Given the description of an element on the screen output the (x, y) to click on. 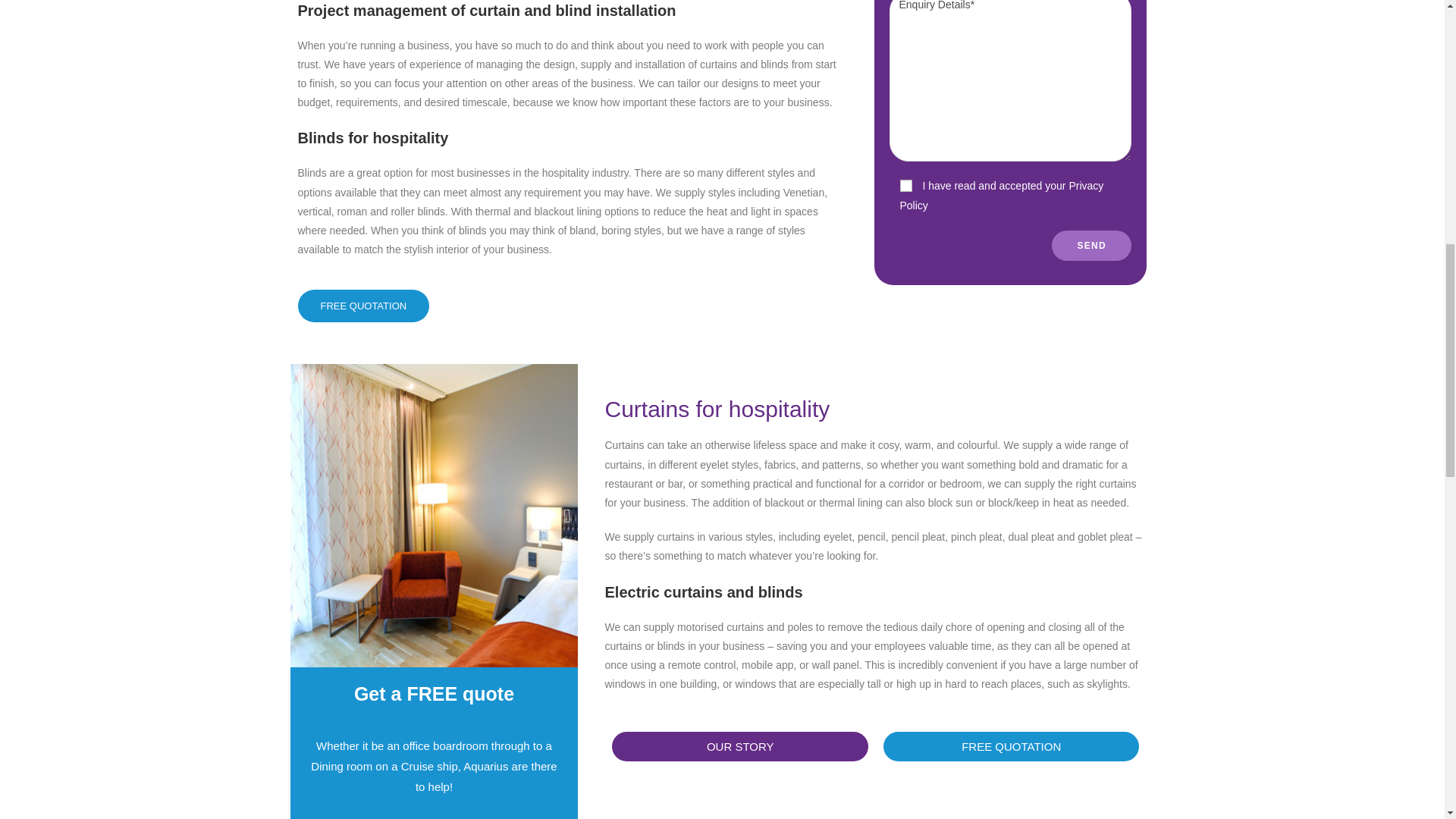
Send (1091, 245)
1 (905, 185)
